Given the description of an element on the screen output the (x, y) to click on. 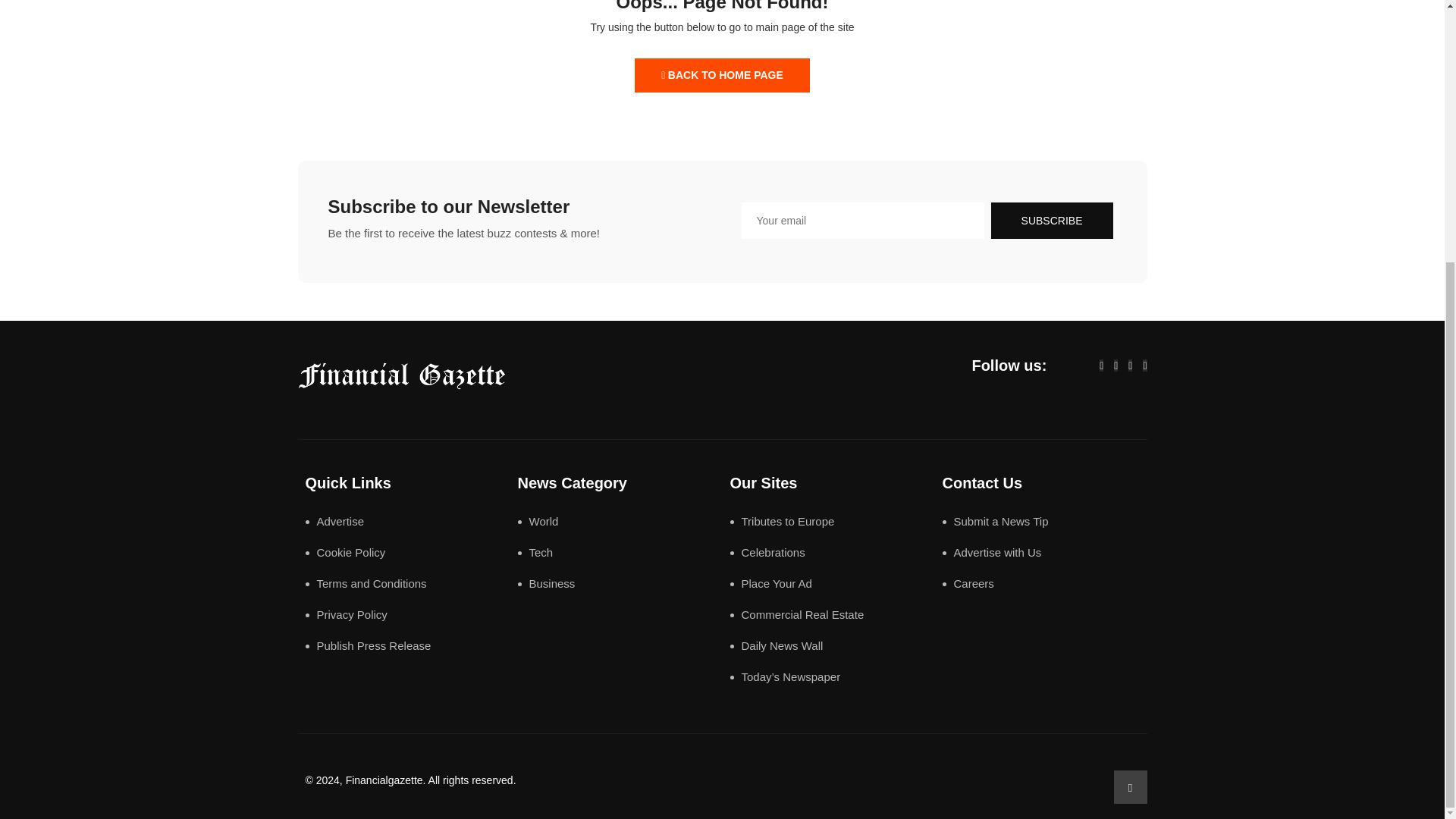
Subscribe (1052, 220)
BACK TO HOME PAGE (721, 75)
